Given the description of an element on the screen output the (x, y) to click on. 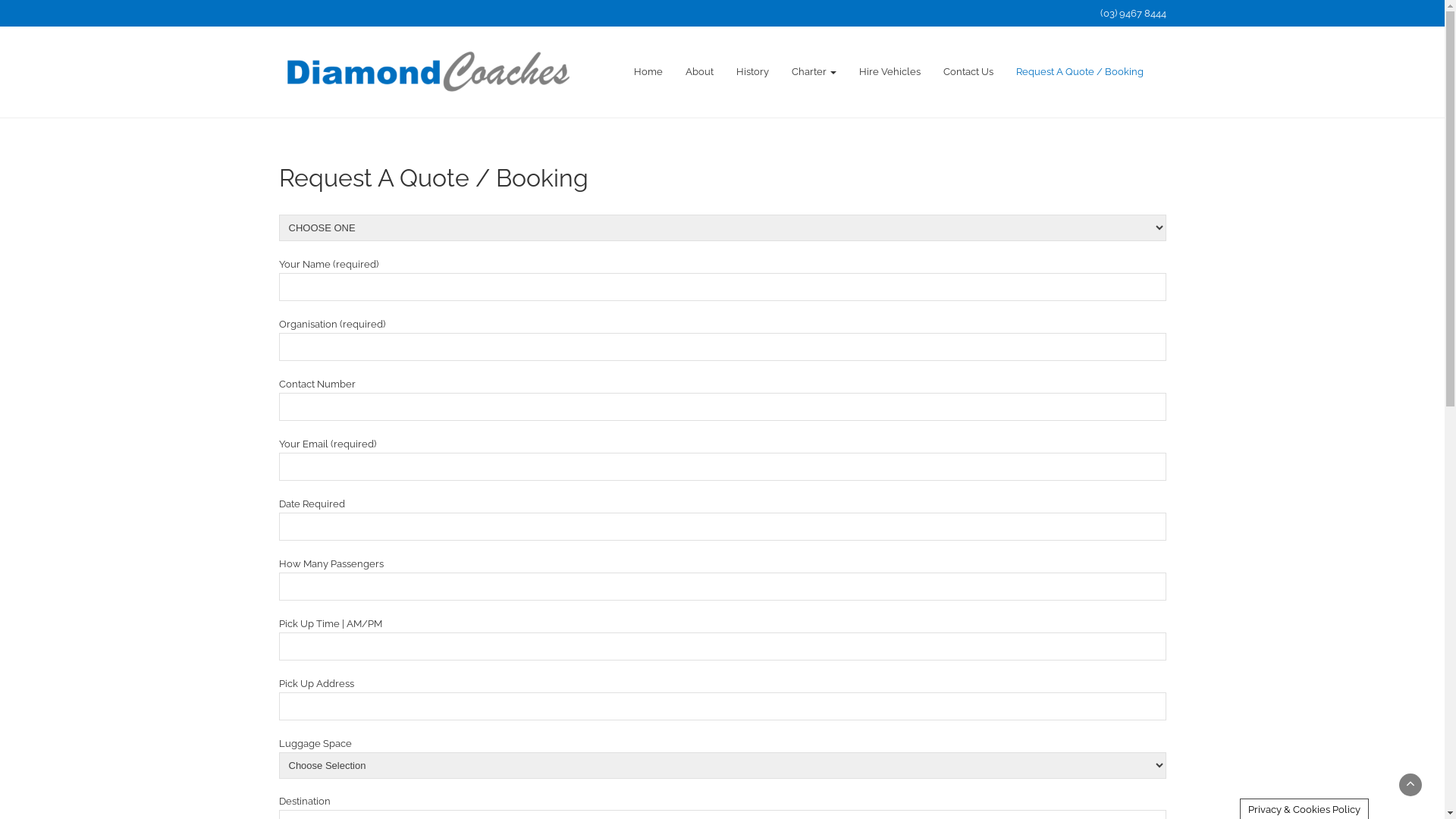
About Element type: text (698, 71)
History Element type: text (752, 71)
Hire Vehicles Element type: text (889, 71)
Contact Us Element type: text (967, 71)
Request A Quote / Booking Element type: text (1079, 71)
Home Element type: text (647, 71)
Charter Element type: text (813, 71)
